Given the description of an element on the screen output the (x, y) to click on. 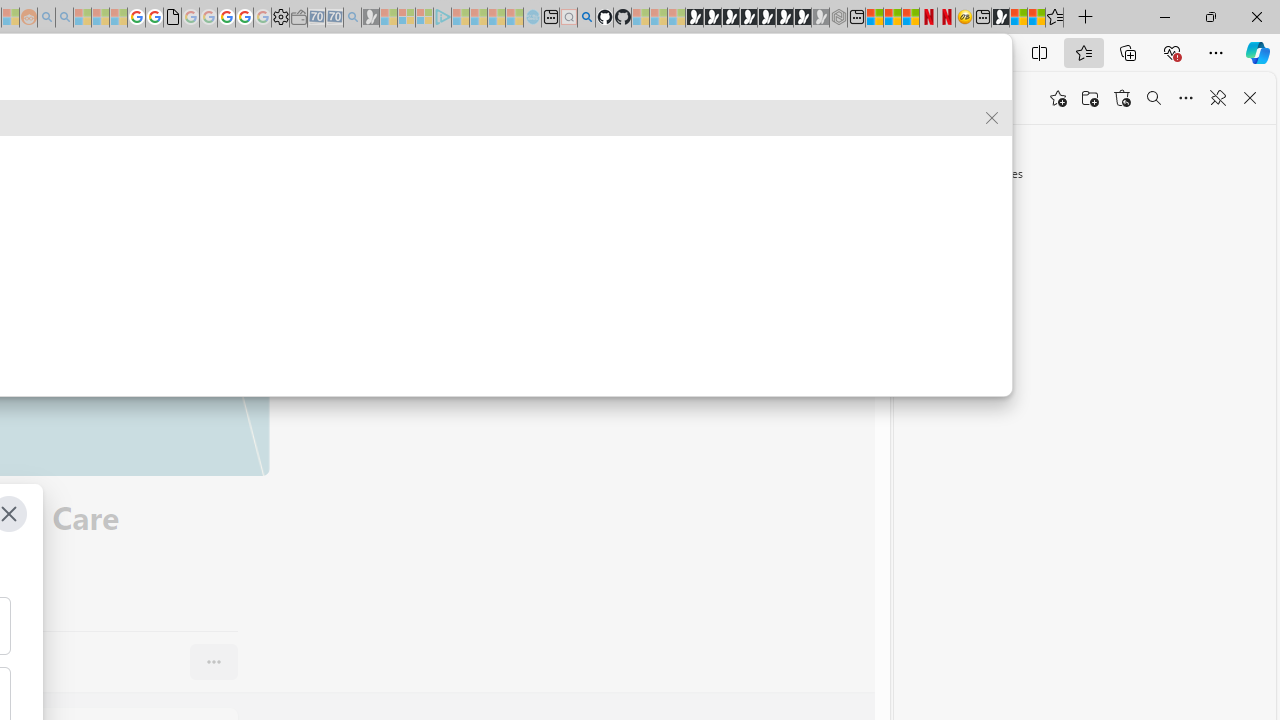
Cheap Car Rentals - Save70.com - Sleeping (334, 17)
Play Free Online Games | Games from Microsoft Start (694, 17)
Microsoft Start Gaming - Sleeping (370, 17)
Restore deleted favorites (1122, 98)
Remove suggestion (991, 117)
